Given the description of an element on the screen output the (x, y) to click on. 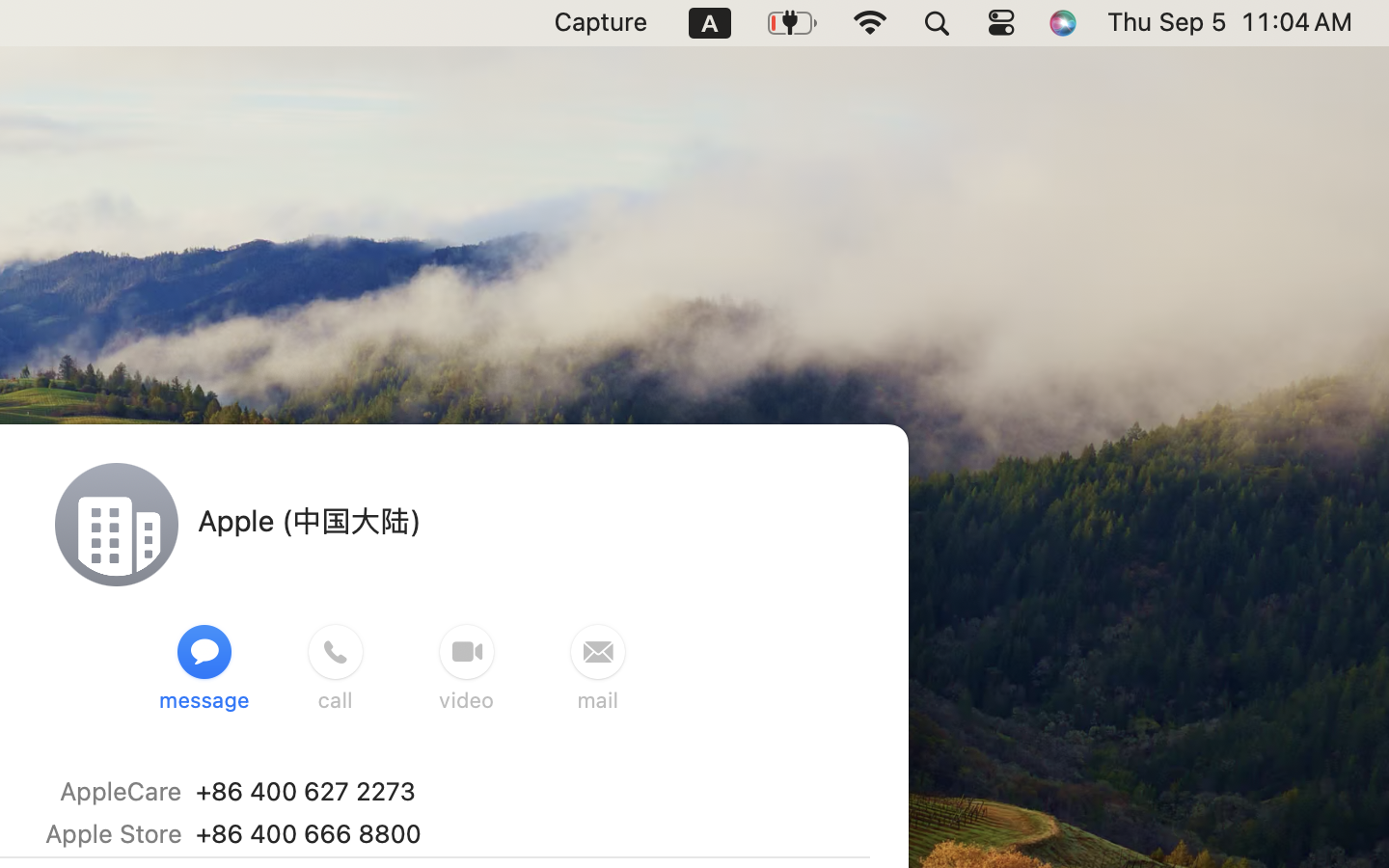
AppleCare Element type: AXStaticText (120, 790)
Apple Store Element type: AXStaticText (112, 832)
Apple (中国大陆) Element type: AXStaticText (308, 519)
‭+86 400 627 2273‬ Element type: AXStaticText (304, 790)
‭+86 400 666 8800‬ Element type: AXStaticText (307, 832)
